Given the description of an element on the screen output the (x, y) to click on. 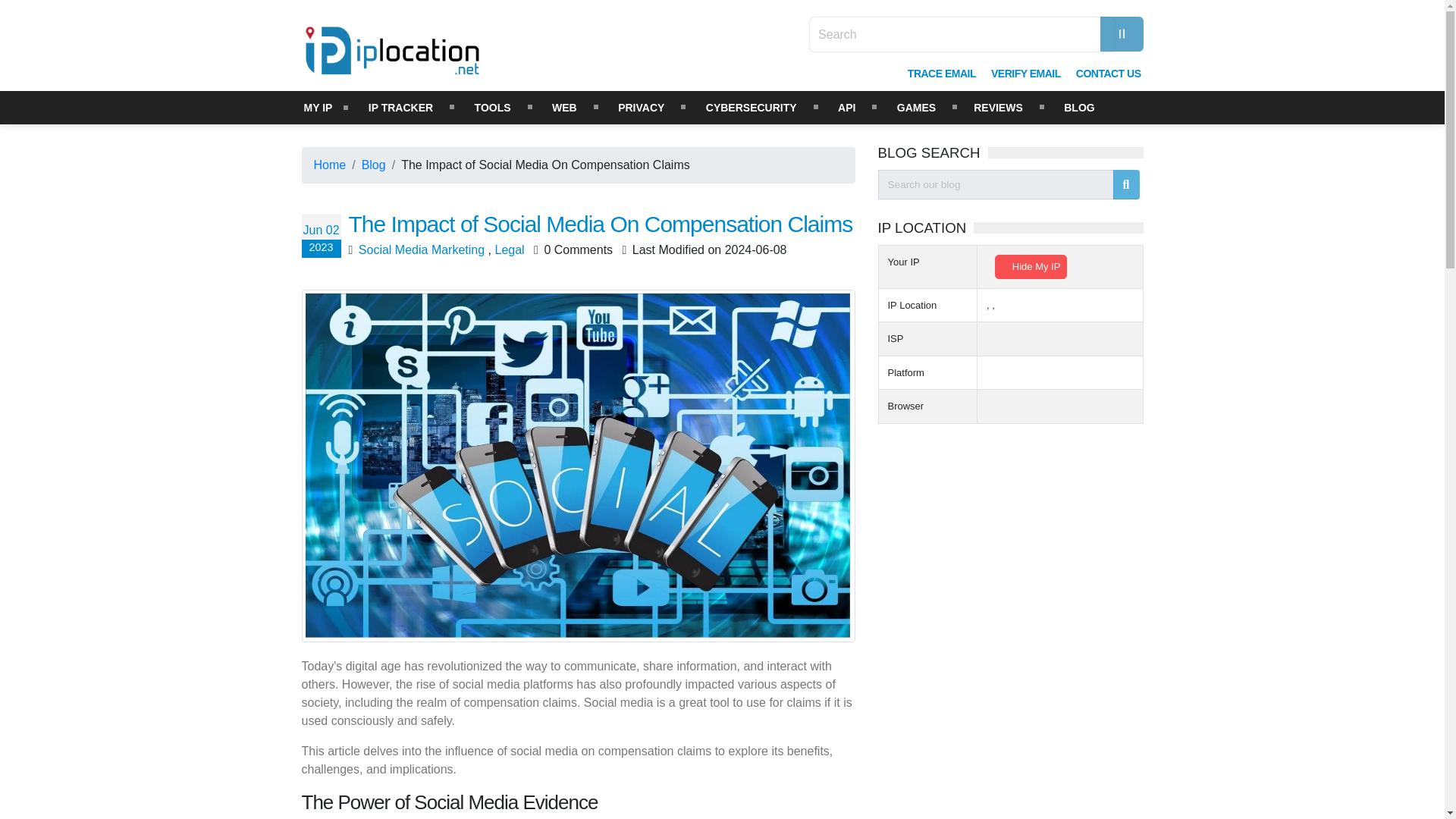
PRIVACY (640, 107)
VERIFY EMAIL (1025, 72)
MY IP (317, 107)
TOOLS (492, 107)
GAMES (916, 107)
CYBERSECURITY (751, 107)
WEB (563, 107)
CONTACT US (1108, 72)
TRACE EMAIL (941, 72)
API (846, 107)
